Given the description of an element on the screen output the (x, y) to click on. 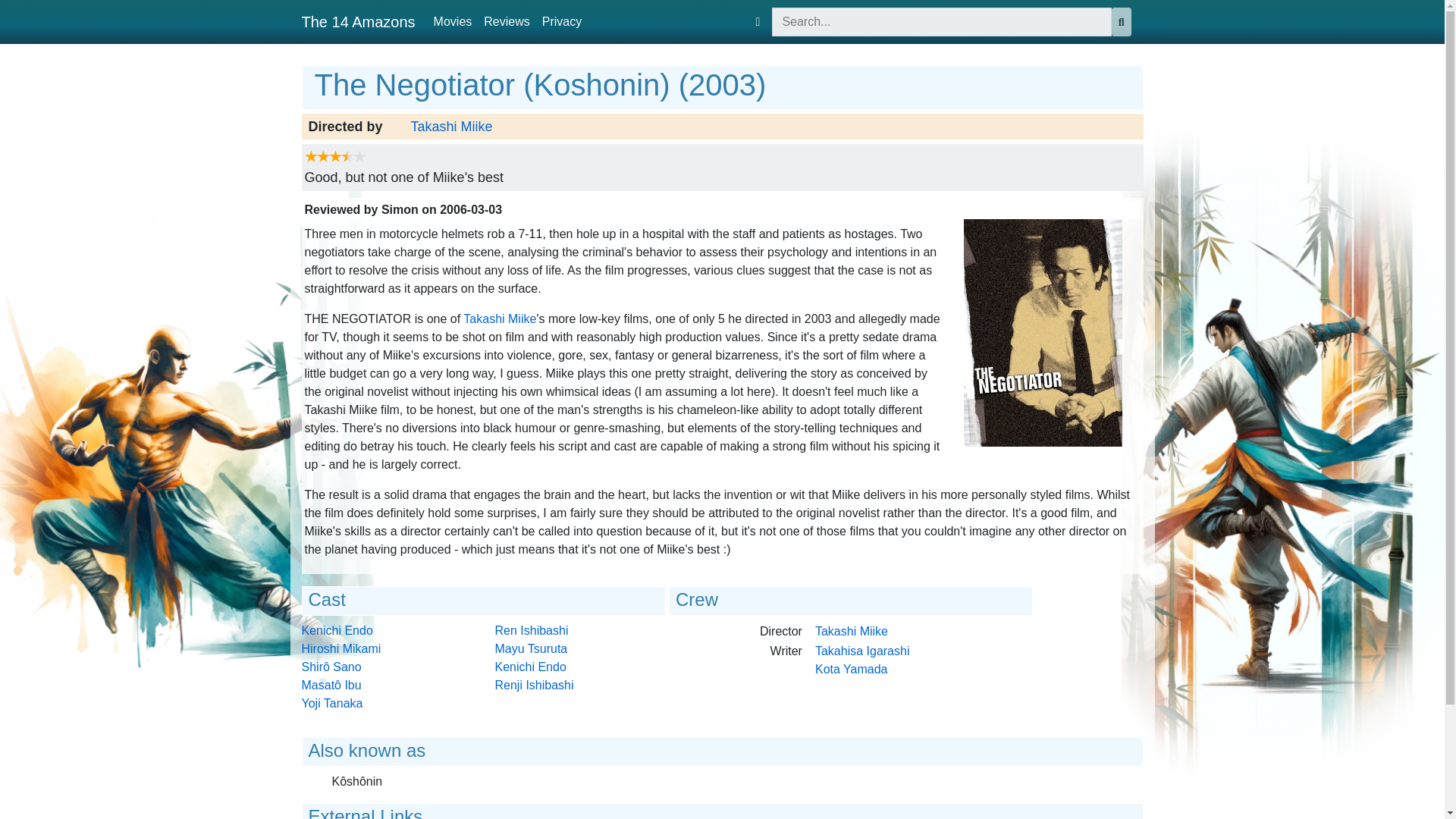
Ren Ishibashi (531, 630)
Takashi Miike (851, 631)
Takahisa Igarashi (862, 650)
Yoji Tanaka (331, 703)
Takashi Miike (451, 127)
Hiroshi Mikami (341, 648)
Renji Ishibashi (534, 684)
Mayu Tsuruta (531, 648)
Movies (453, 21)
Kenichi Endo (336, 630)
Kenichi Endo (530, 666)
The 14 Amazons (357, 21)
Reviews (506, 21)
Kota Yamada (850, 668)
Privacy (561, 21)
